Given the description of an element on the screen output the (x, y) to click on. 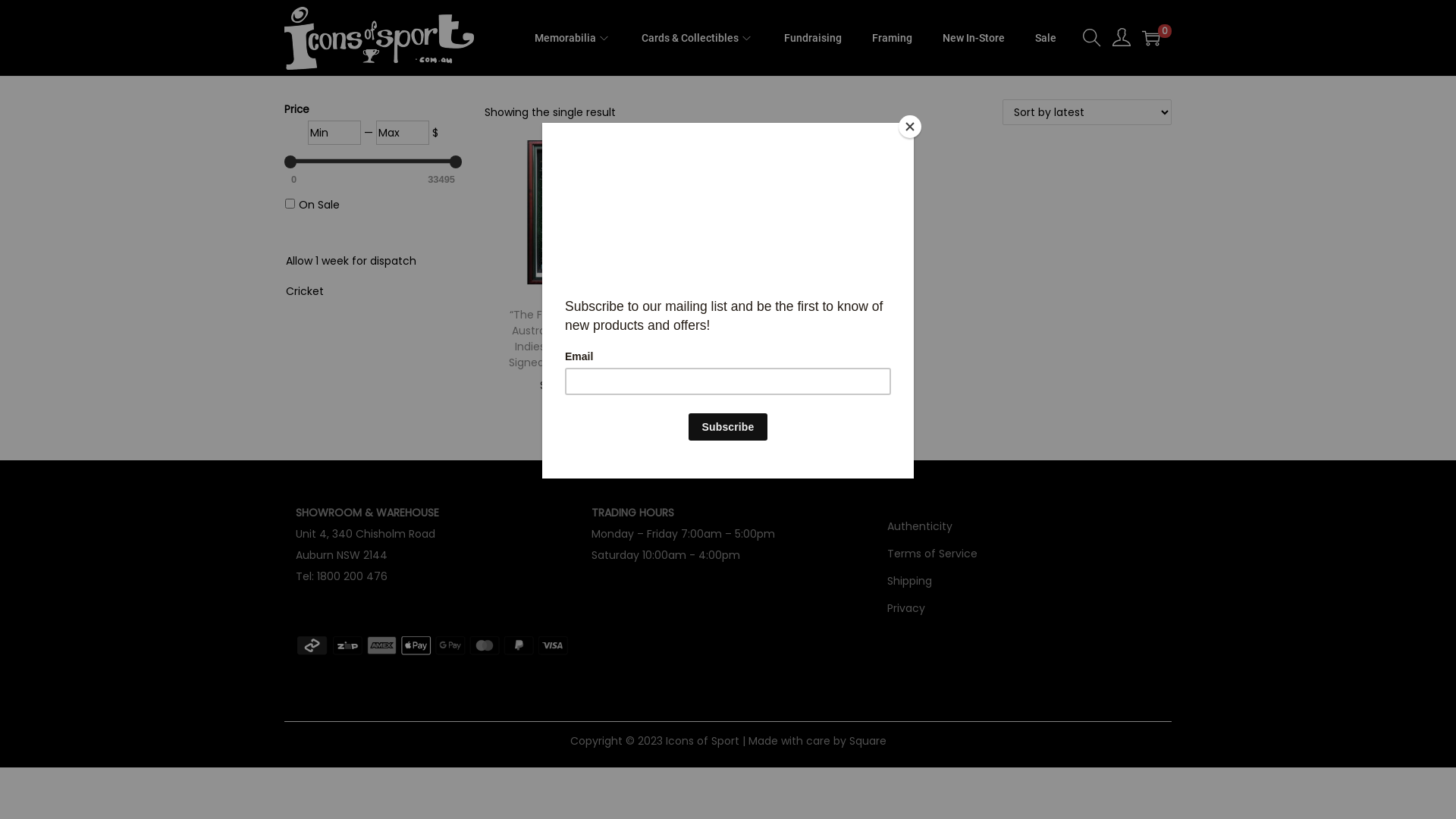
Privacy Element type: text (906, 607)
Register Element type: text (800, 566)
Fundraising Element type: text (812, 37)
Search Element type: text (955, 428)
Framing Element type: text (892, 37)
Authenticity Element type: text (919, 525)
0 Element type: text (1151, 37)
Sale Element type: text (1045, 37)
Cricket Element type: text (304, 290)
Shipping Element type: text (909, 580)
Log in Element type: text (480, 434)
Square Element type: text (867, 740)
On Sale Element type: text (318, 204)
Allow 1 week for dispatch Element type: text (350, 259)
Skip to navigation Element type: text (283, 37)
Cards & Collectibles Element type: text (697, 37)
Terms of Service Element type: text (932, 553)
New In-Store Element type: text (973, 37)
Memorabilia Element type: text (572, 37)
1800 200 476 Element type: text (351, 575)
